Given the description of an element on the screen output the (x, y) to click on. 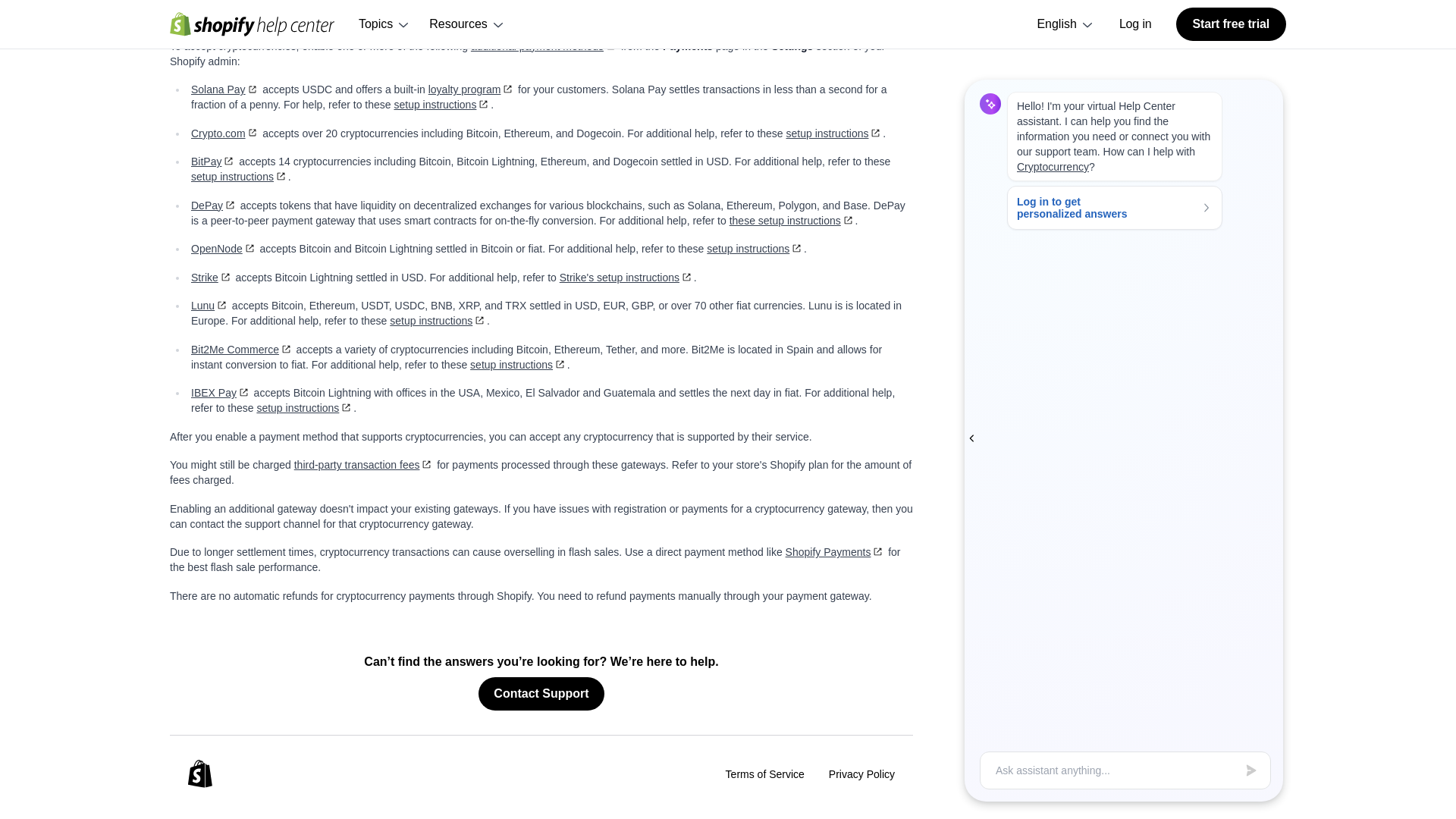
setup instructions (438, 320)
Crypto.com (224, 133)
setup instructions (834, 133)
DePay (213, 205)
IBEX Pay (220, 392)
setup instructions (304, 408)
OpenNode (223, 248)
loyalty program (471, 89)
Lunu (209, 305)
additional payment methods (543, 46)
these setup instructions (792, 220)
Bit2Me Commerce (242, 349)
Strike's setup instructions (626, 277)
setup instructions (754, 248)
